Given the description of an element on the screen output the (x, y) to click on. 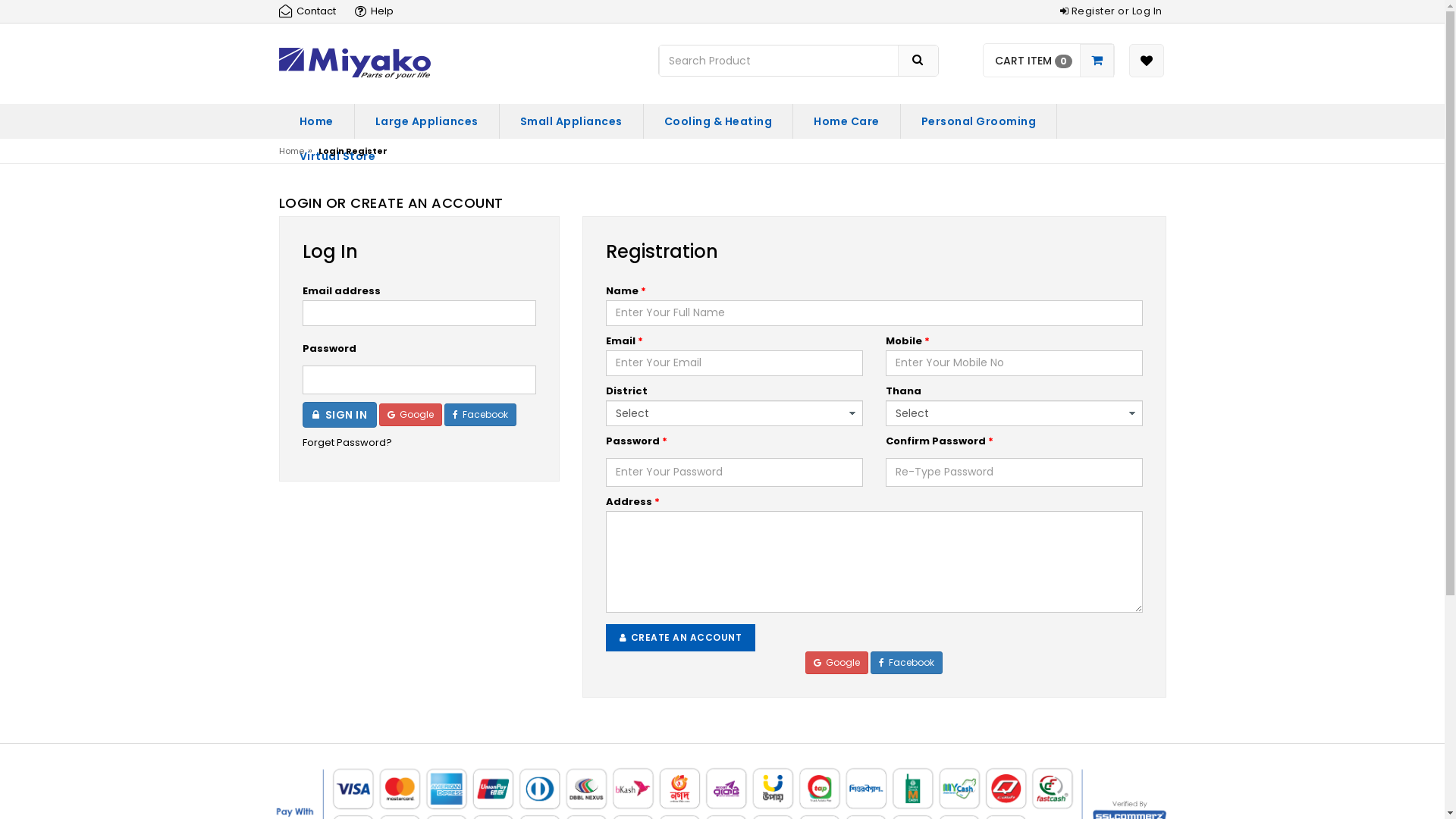
Large Appliances Element type: text (426, 120)
Home Element type: text (316, 120)
  SIGN IN Element type: text (338, 414)
  Google Element type: text (410, 414)
Virtual Store Element type: text (337, 155)
  Google Element type: text (836, 662)
Register or Log In Element type: text (1110, 10)
Home Element type: text (291, 150)
Small Appliances Element type: text (570, 120)
Forget Password? Element type: text (418, 442)
Personal Grooming Element type: text (978, 120)
Home Care Element type: text (846, 120)
Cooling & Heating Element type: text (717, 120)
  CREATE AN ACCOUNT Element type: text (680, 637)
  Facebook Element type: text (906, 662)
Miyako Appliance Limited Element type: hover (354, 62)
Wishlist Element type: hover (1145, 60)
  Facebook Element type: text (480, 414)
  Contact Element type: text (312, 9)
  Help Element type: text (378, 9)
